Given the description of an element on the screen output the (x, y) to click on. 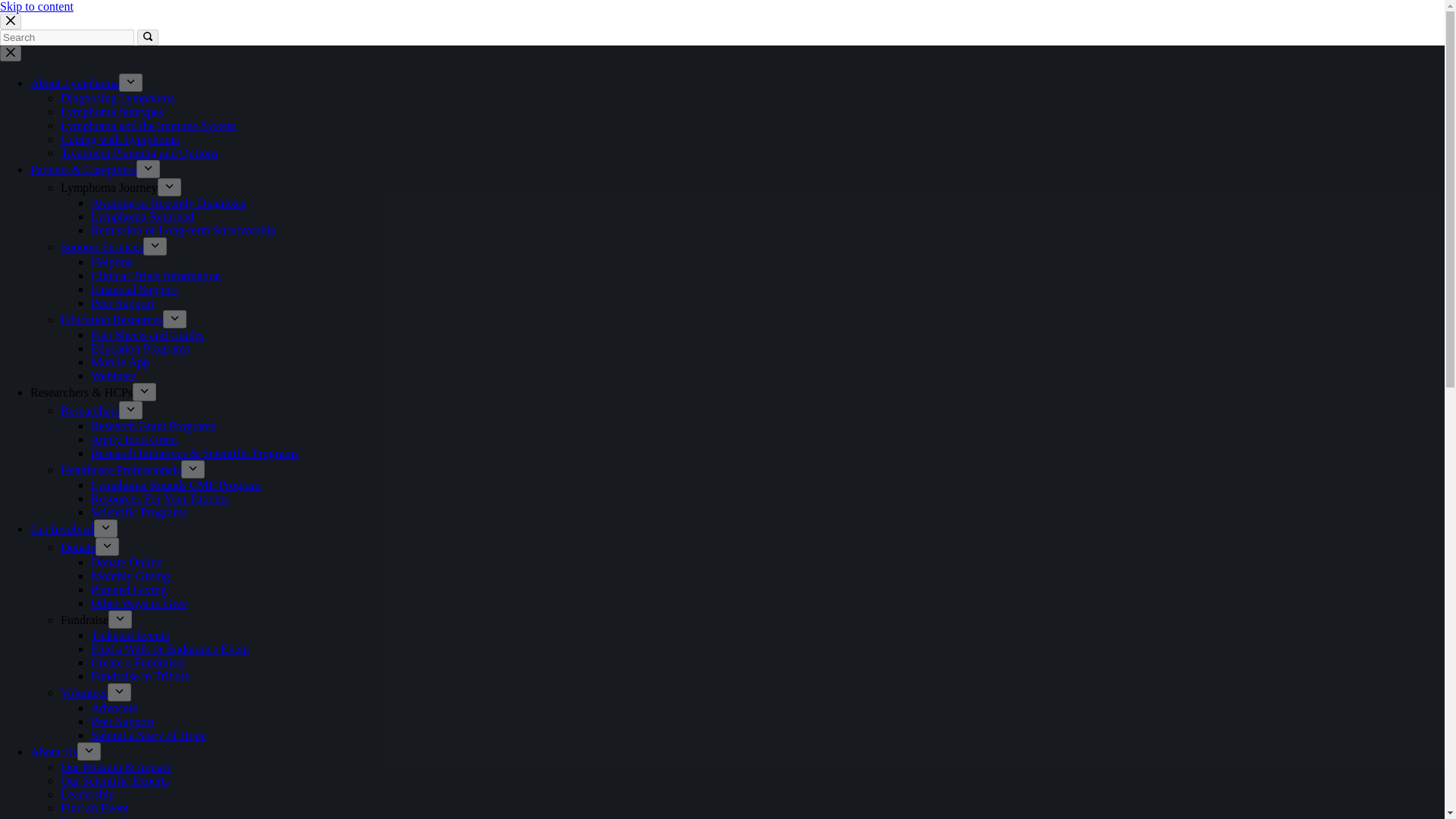
Search Input (66, 37)
Financial Support (133, 288)
Fact Sheets and Guides (147, 334)
Mobile App (119, 361)
About Lymphoma (74, 82)
Lymphoma Journey (109, 187)
Education Programs (139, 348)
Skip to content (37, 6)
Lymphoma Returned (141, 215)
Education Resources (112, 318)
